Given the description of an element on the screen output the (x, y) to click on. 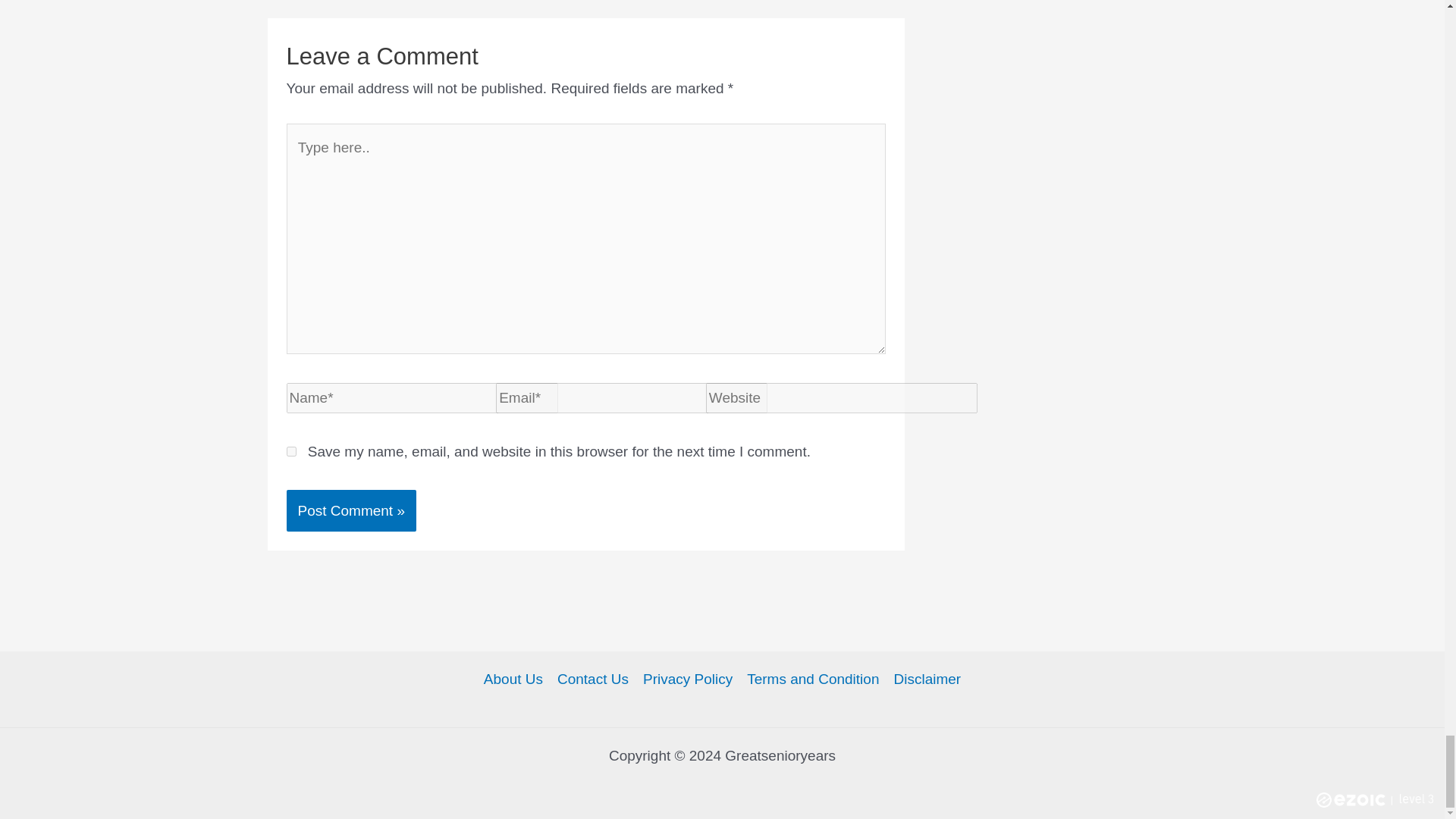
yes (291, 451)
